Given the description of an element on the screen output the (x, y) to click on. 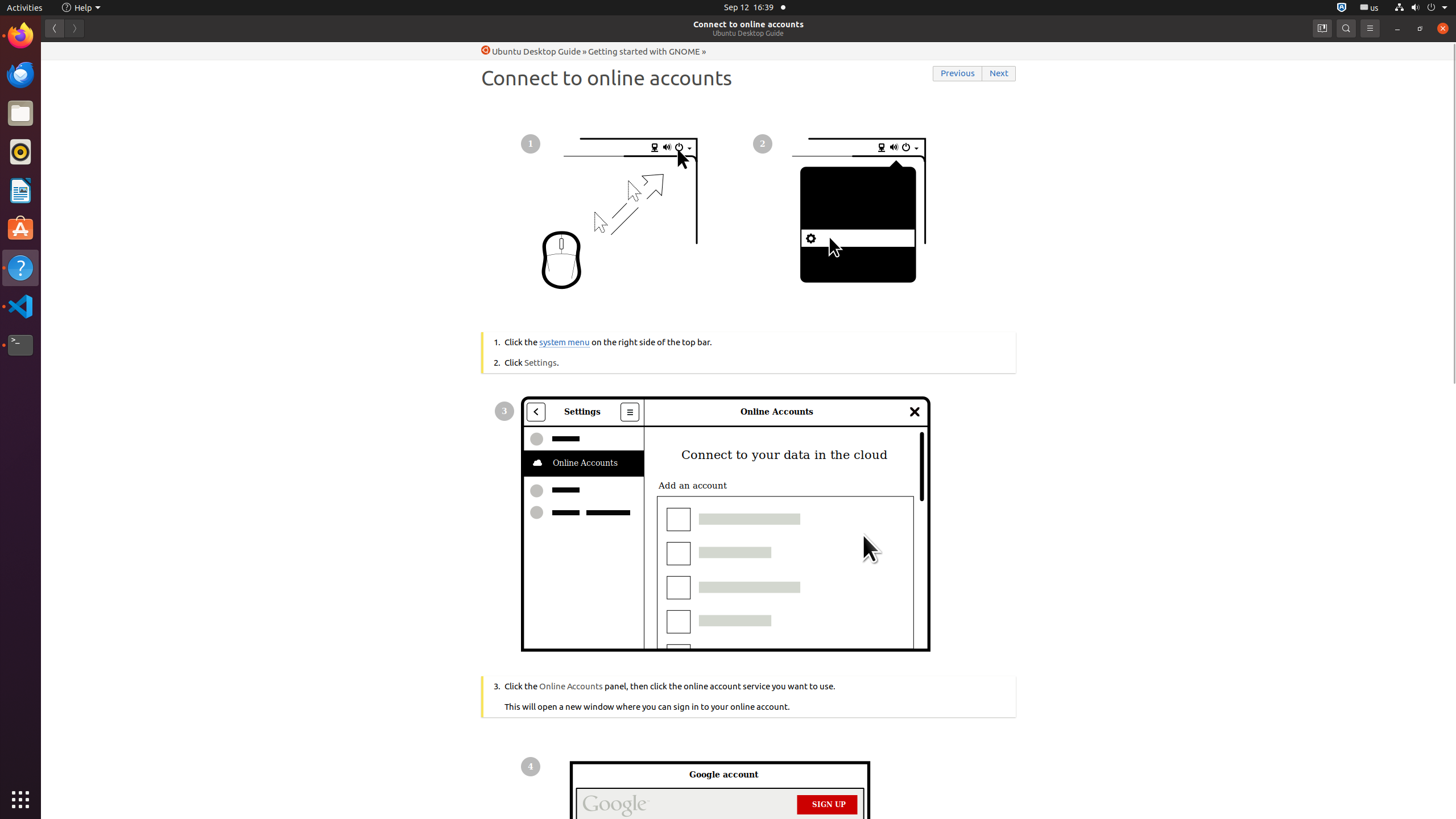
Close Element type: push-button (1442, 27)
Previous Element type: link (957, 73)
li.txt Element type: label (146, 50)
IsaHelpMain.desktop Element type: label (75, 170)
